Given the description of an element on the screen output the (x, y) to click on. 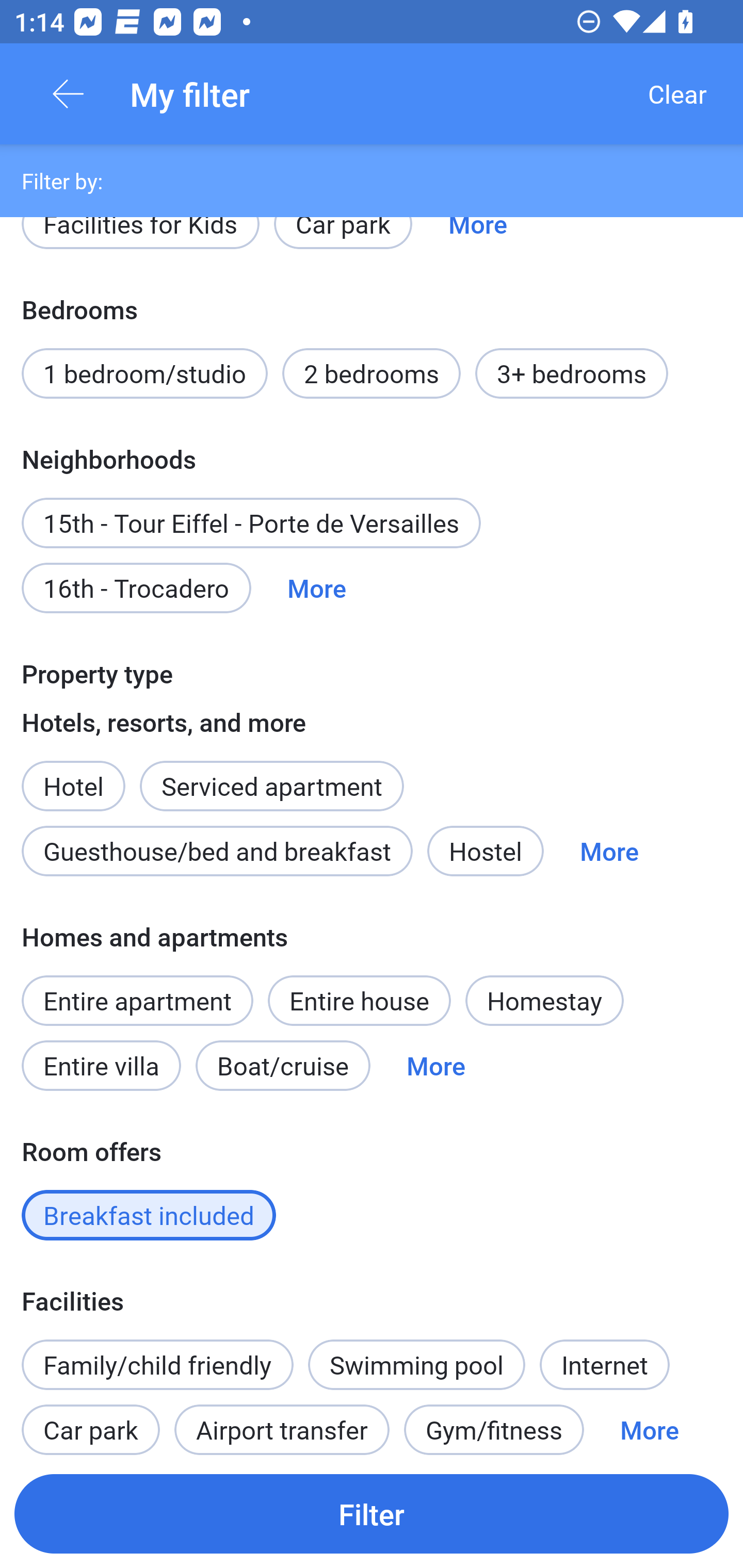
Clear (676, 93)
Facilities for Kids (140, 241)
Car park (343, 241)
More (477, 241)
1 bedroom/studio (144, 373)
2 bedrooms (371, 373)
3+ bedrooms (571, 373)
15th - Tour Eiffel - Porte de Versailles (250, 522)
16th - Trocadero (136, 587)
More (316, 587)
Hotel (73, 775)
Serviced apartment (271, 775)
Guesthouse/bed and breakfast (217, 850)
Hostel (485, 850)
More (608, 850)
Entire apartment (137, 1001)
Entire house (359, 1001)
Homestay (544, 1001)
Entire villa (101, 1065)
Boat/cruise (282, 1065)
More (435, 1065)
Family/child friendly (157, 1364)
Swimming pool (416, 1364)
Internet (604, 1364)
Car park (90, 1422)
Airport transfer (281, 1422)
Gym/fitness (493, 1422)
More (649, 1422)
Filter (371, 1513)
